Given the description of an element on the screen output the (x, y) to click on. 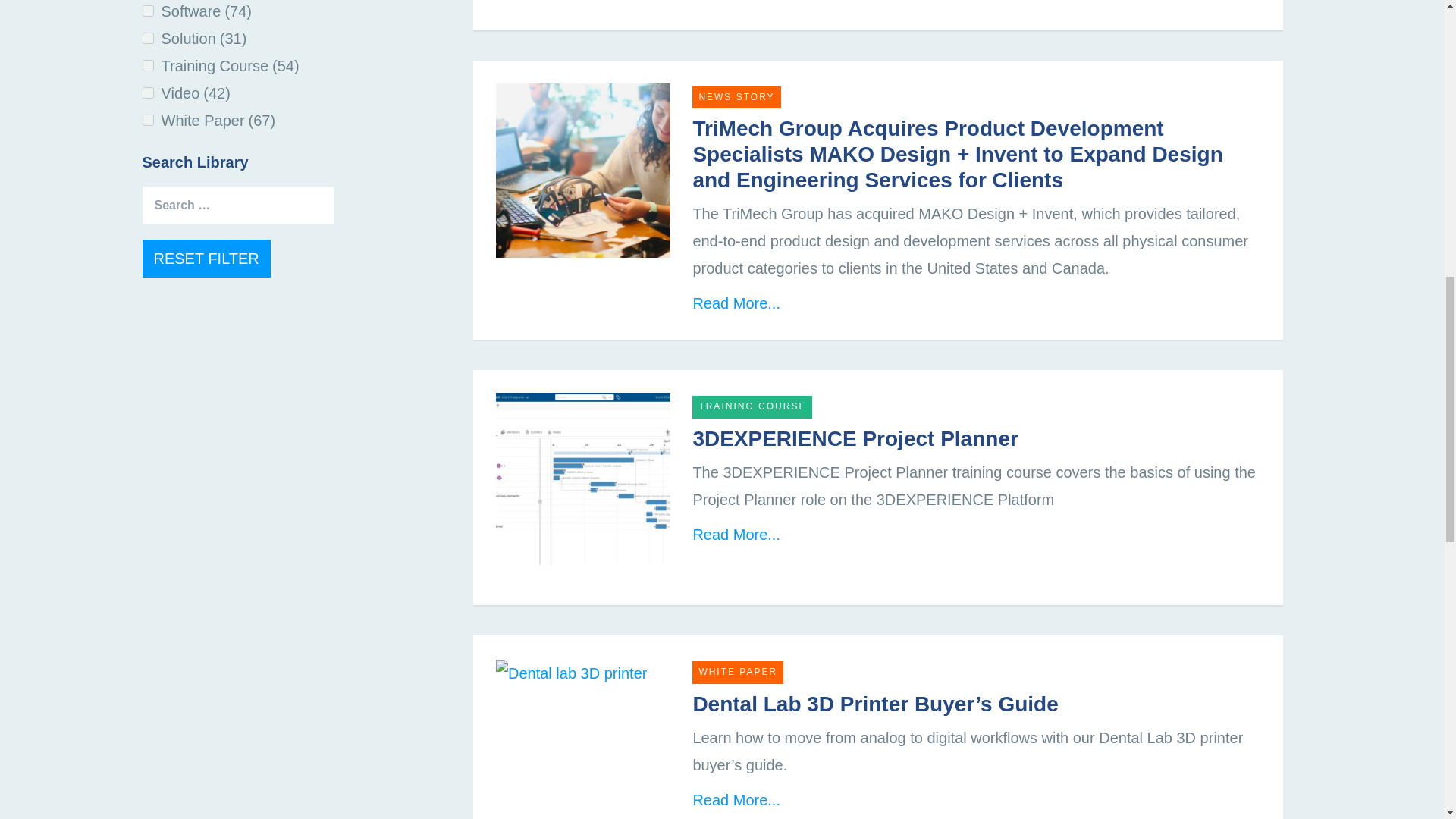
solution (148, 38)
video (148, 92)
Reset Filter (206, 258)
software (148, 10)
Reset Filter (206, 258)
white-paper (148, 120)
training-course (148, 65)
